Given the description of an element on the screen output the (x, y) to click on. 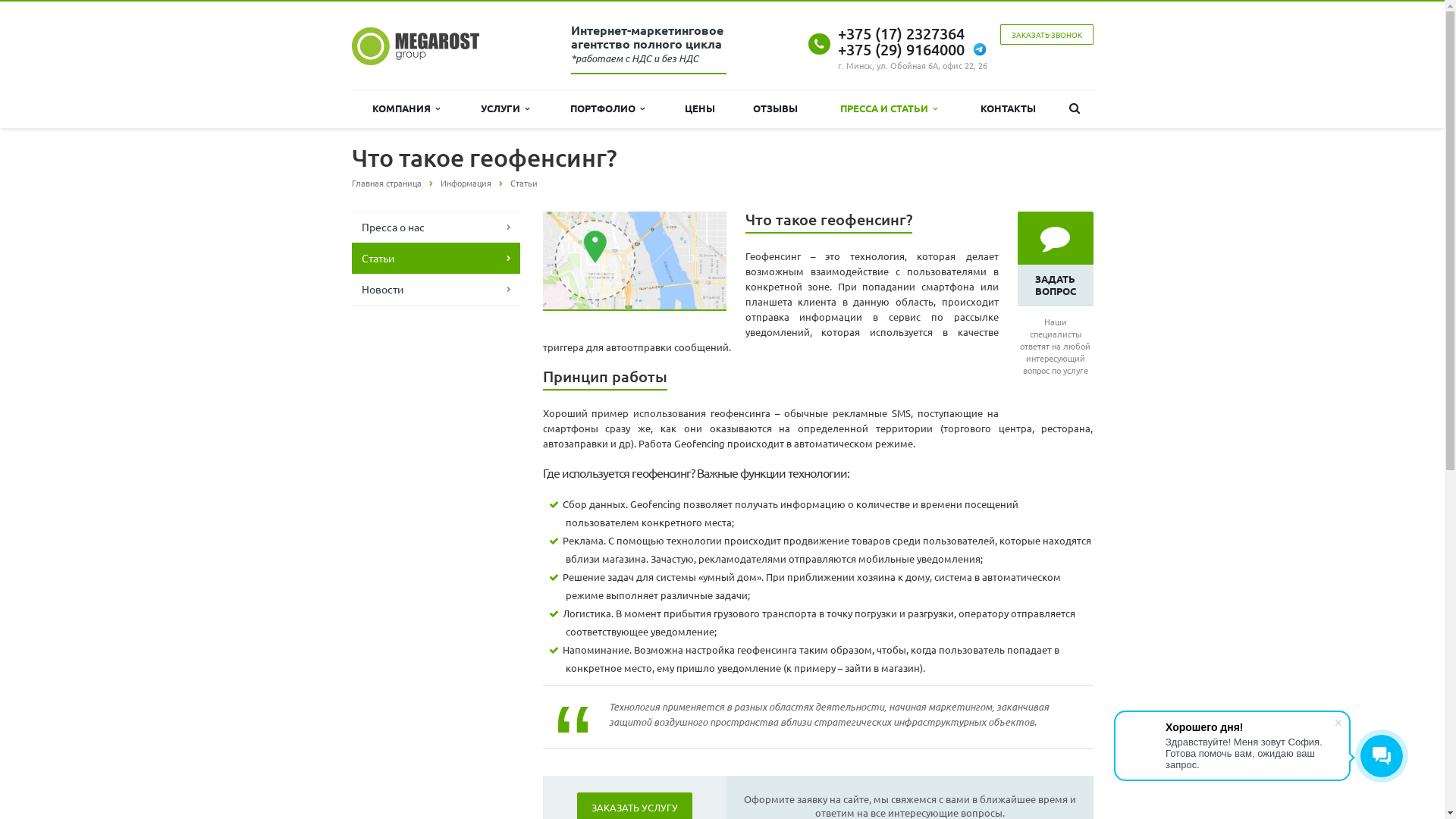
+375 (17) 2327364 Element type: text (900, 33)
telegram Element type: hover (979, 50)
+375 (29) 9164000 Element type: text (900, 50)
megarost.by Element type: hover (415, 46)
